Given the description of an element on the screen output the (x, y) to click on. 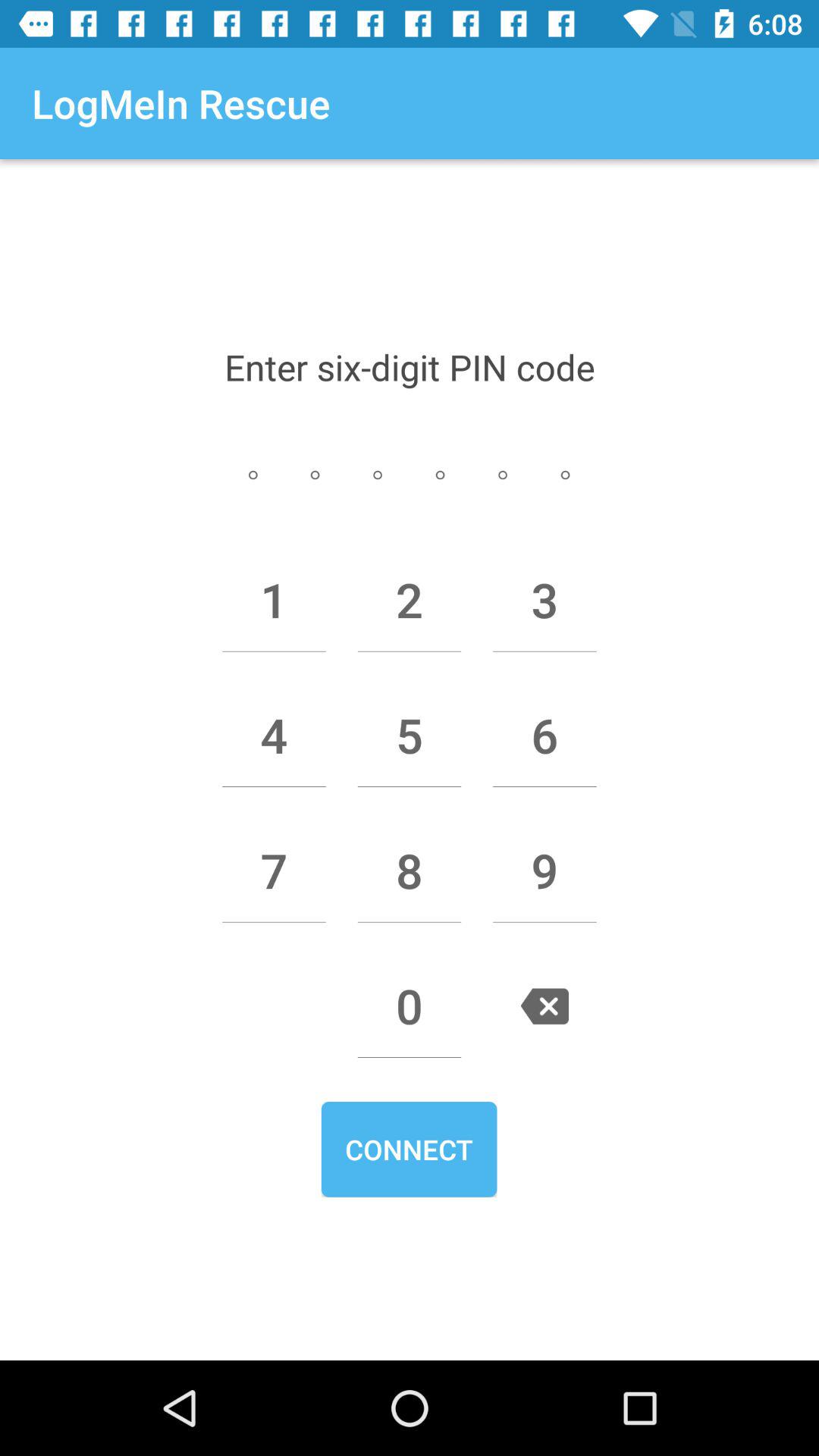
click icon to the right of the 4 icon (409, 735)
